Given the description of an element on the screen output the (x, y) to click on. 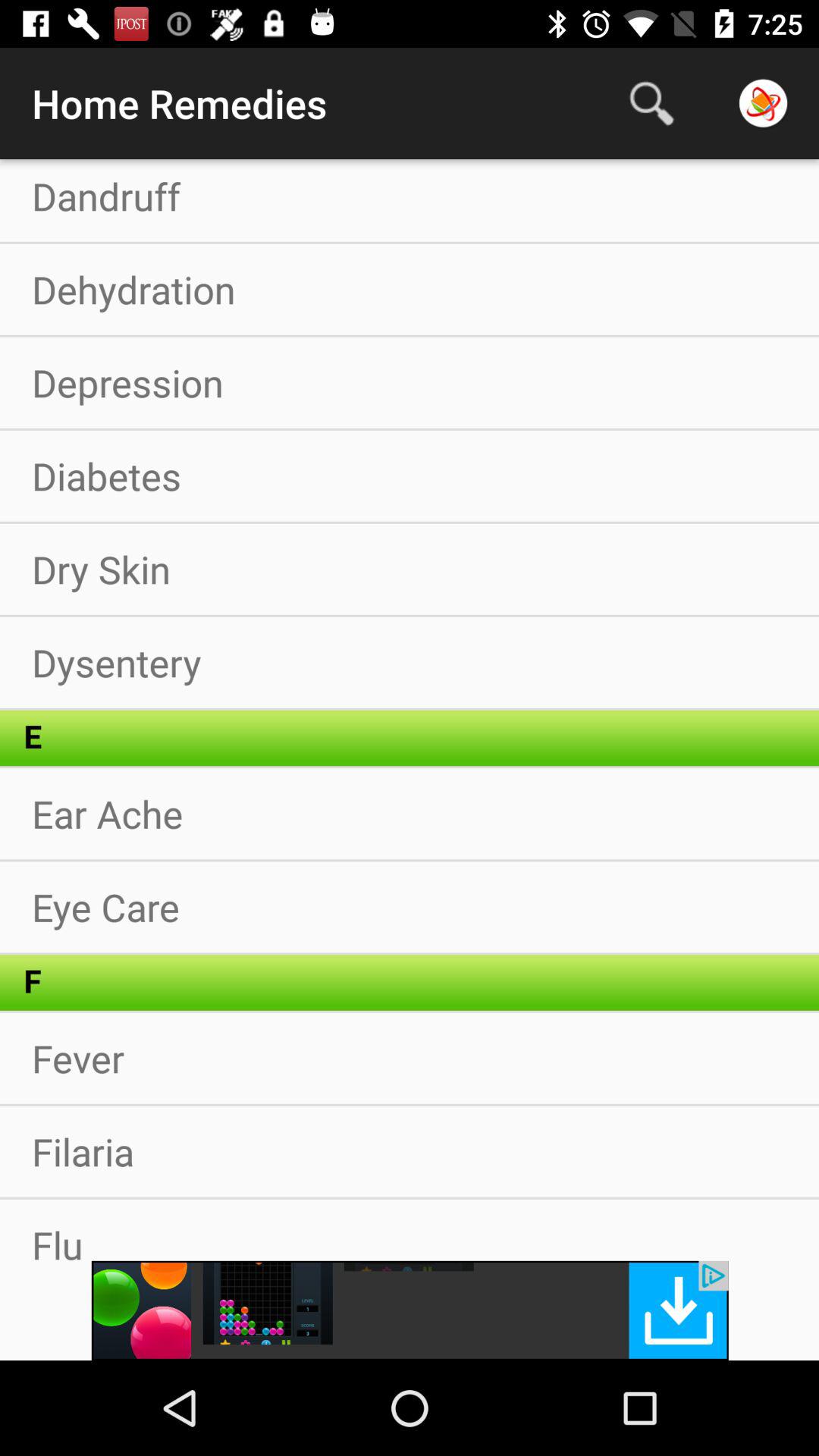
advertising area (409, 1310)
